Given the description of an element on the screen output the (x, y) to click on. 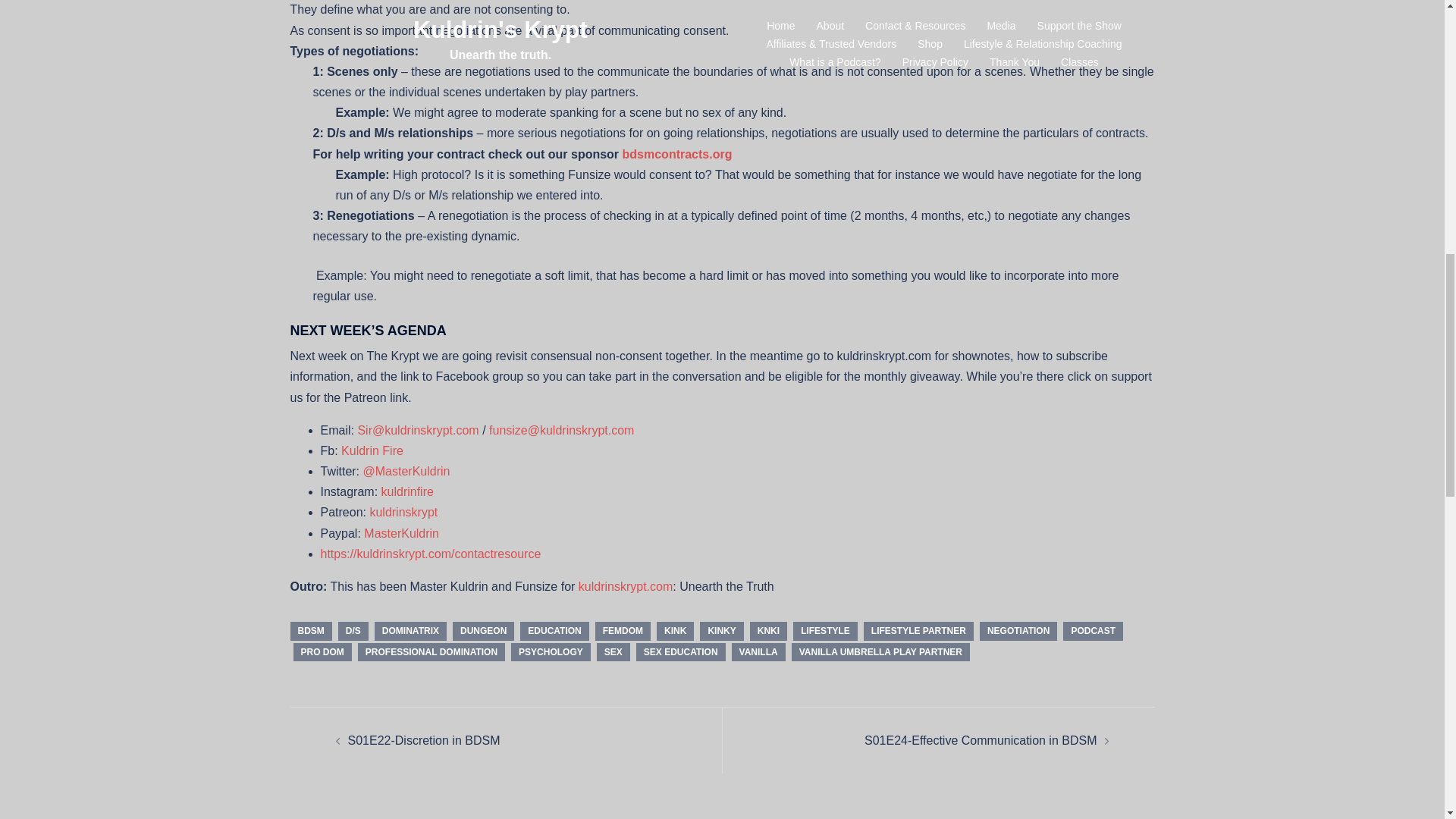
DOMINATRIX (410, 630)
KINK (675, 630)
kuldrinfire (407, 491)
Kuldrin Fire (371, 450)
BDSM (310, 630)
DUNGEON (482, 630)
EDUCATION (553, 630)
MasterKuldrin (401, 533)
bdsmcontracts.org (677, 154)
kuldrinskrypt.com (625, 585)
FEMDOM (622, 630)
kuldrinskrypt (403, 512)
KINKY (721, 630)
